Given the description of an element on the screen output the (x, y) to click on. 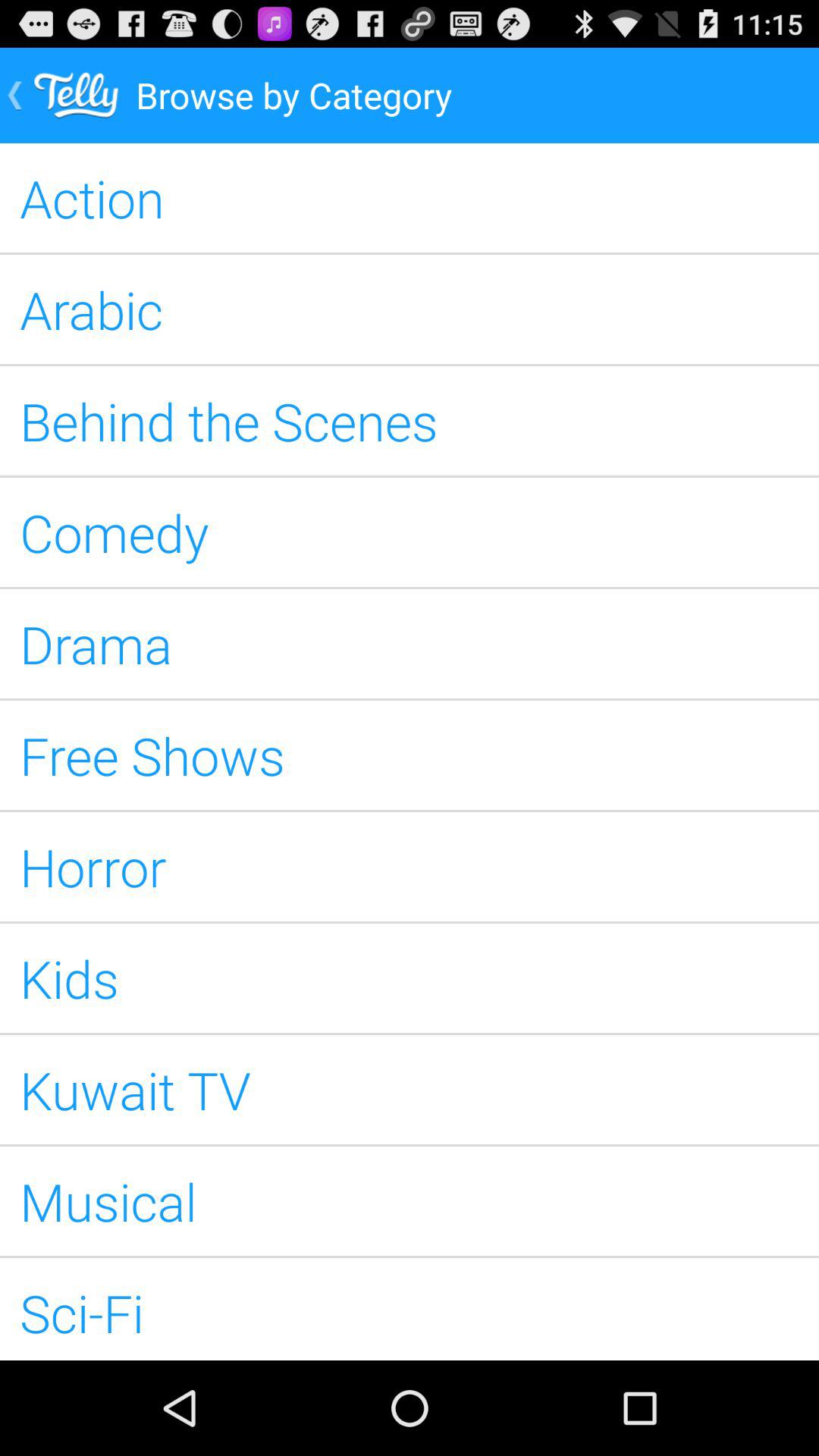
open the app above free shows item (409, 643)
